Given the description of an element on the screen output the (x, y) to click on. 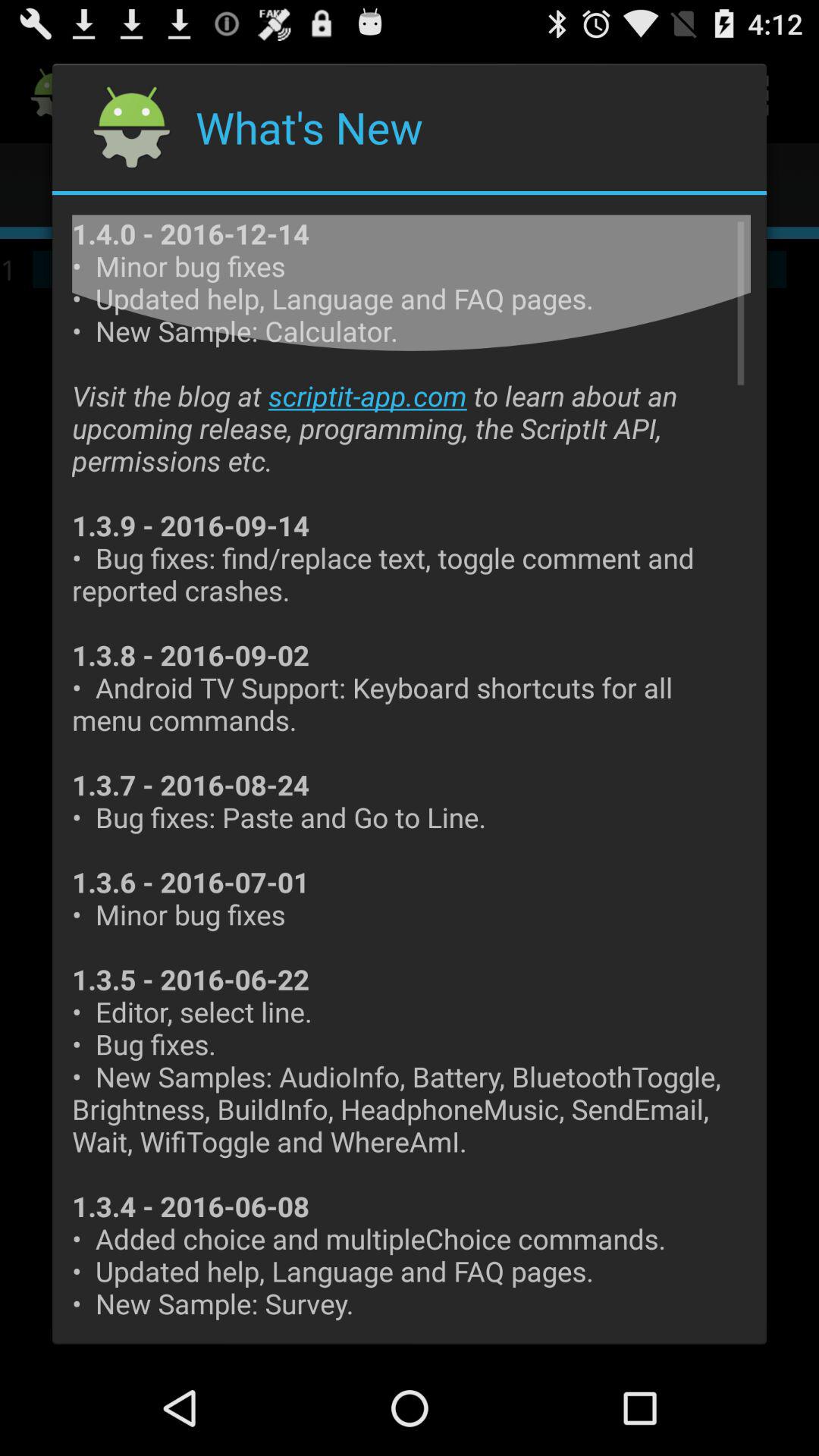
turn on the item at the center (411, 769)
